Given the description of an element on the screen output the (x, y) to click on. 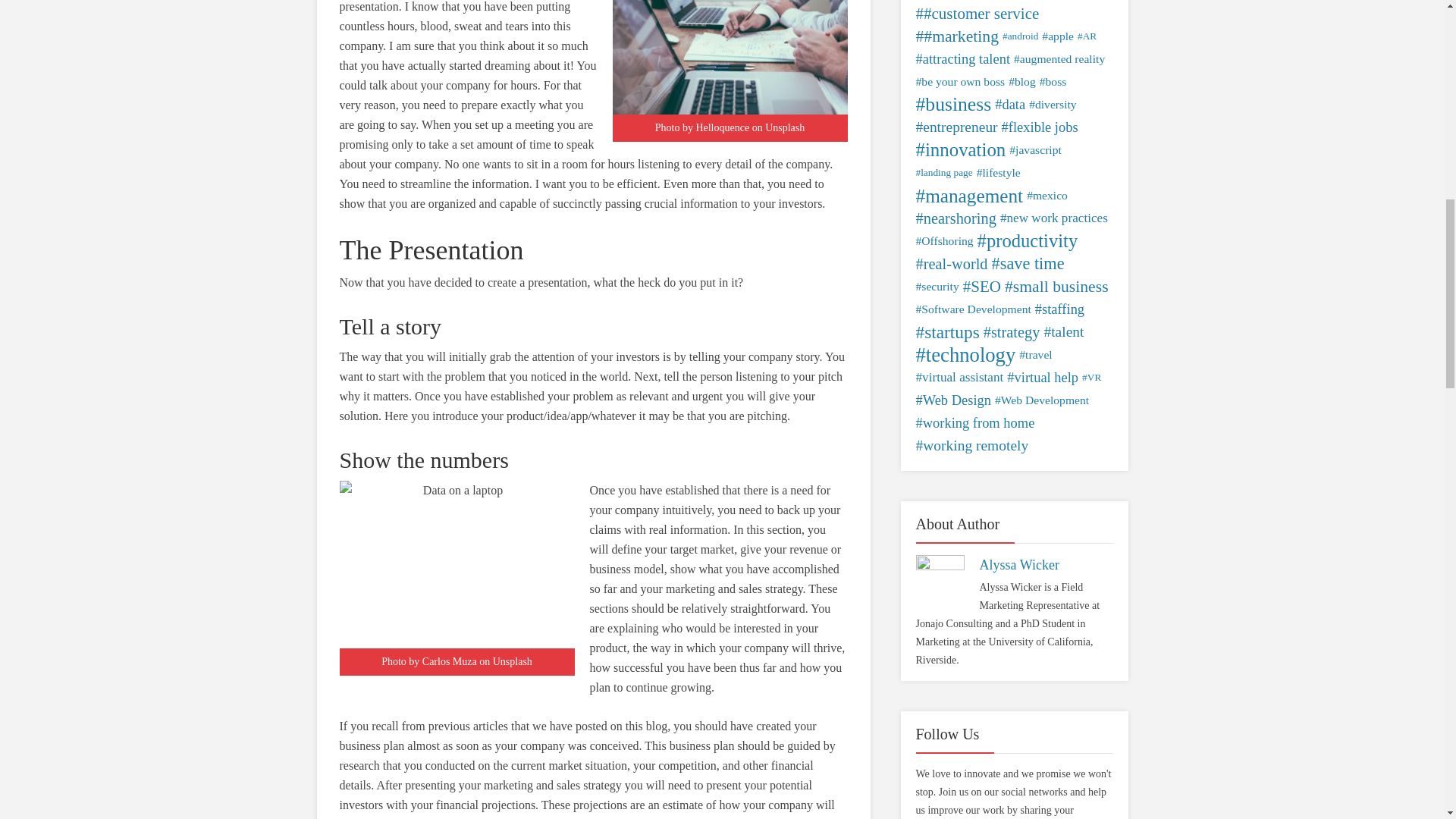
prepare exactly what you are going to say. (461, 114)
company story (783, 356)
define your target market, (675, 549)
previous articles (468, 725)
